Given the description of an element on the screen output the (x, y) to click on. 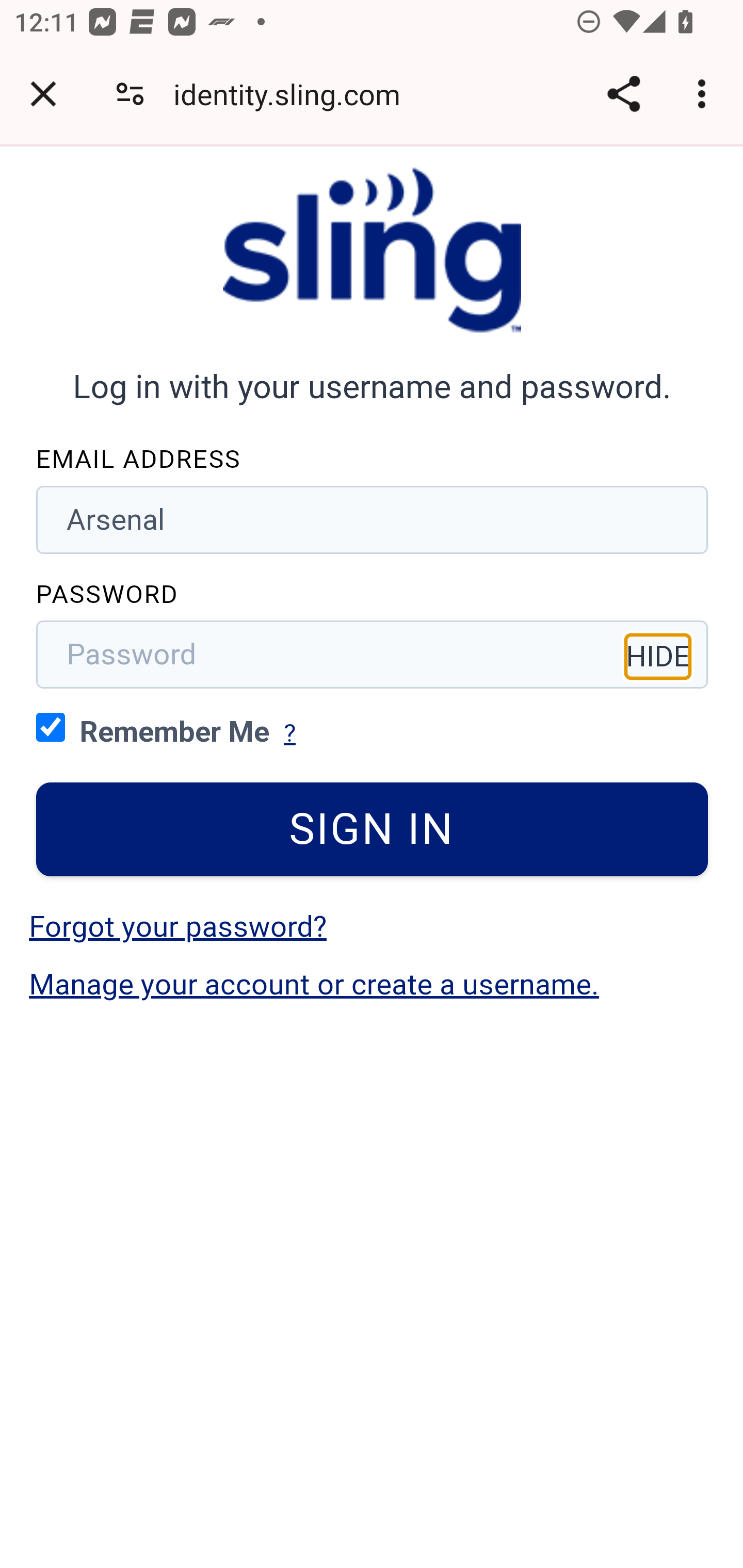
Close tab (43, 93)
Share (623, 93)
Customize and control Google Chrome (705, 93)
Connection is secure (129, 93)
identity.sling.com (294, 93)
Arsenal (372, 518)
HIDE (657, 655)
Remember Me (50, 726)
? (289, 732)
SIGN IN (372, 829)
Forgot your password? (177, 926)
Manage your account or create a username. (313, 984)
